Given the description of an element on the screen output the (x, y) to click on. 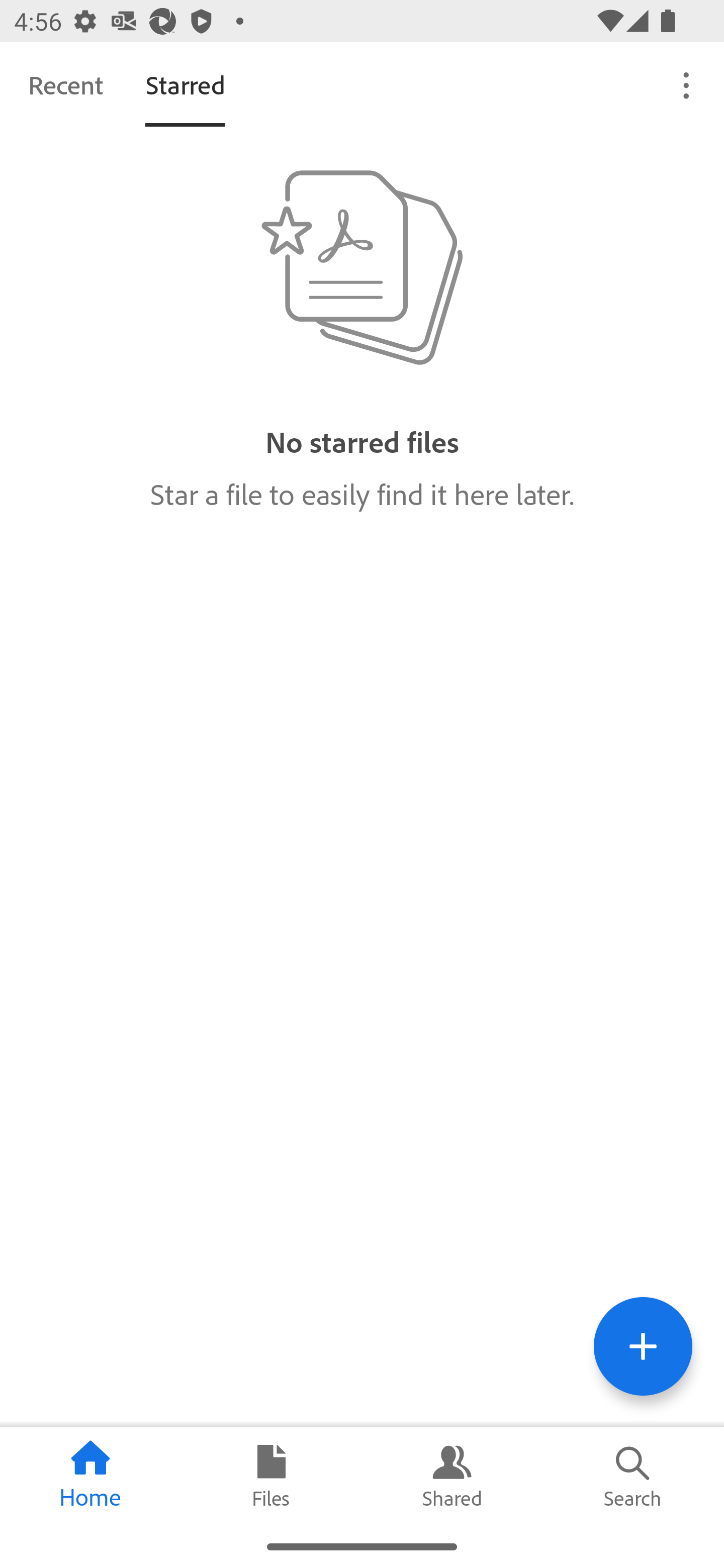
Recent (65, 84)
Starred (185, 84)
Overflow (687, 84)
Tools (642, 1345)
Home (90, 1475)
Files (271, 1475)
Shared (452, 1475)
Search (633, 1475)
